Given the description of an element on the screen output the (x, y) to click on. 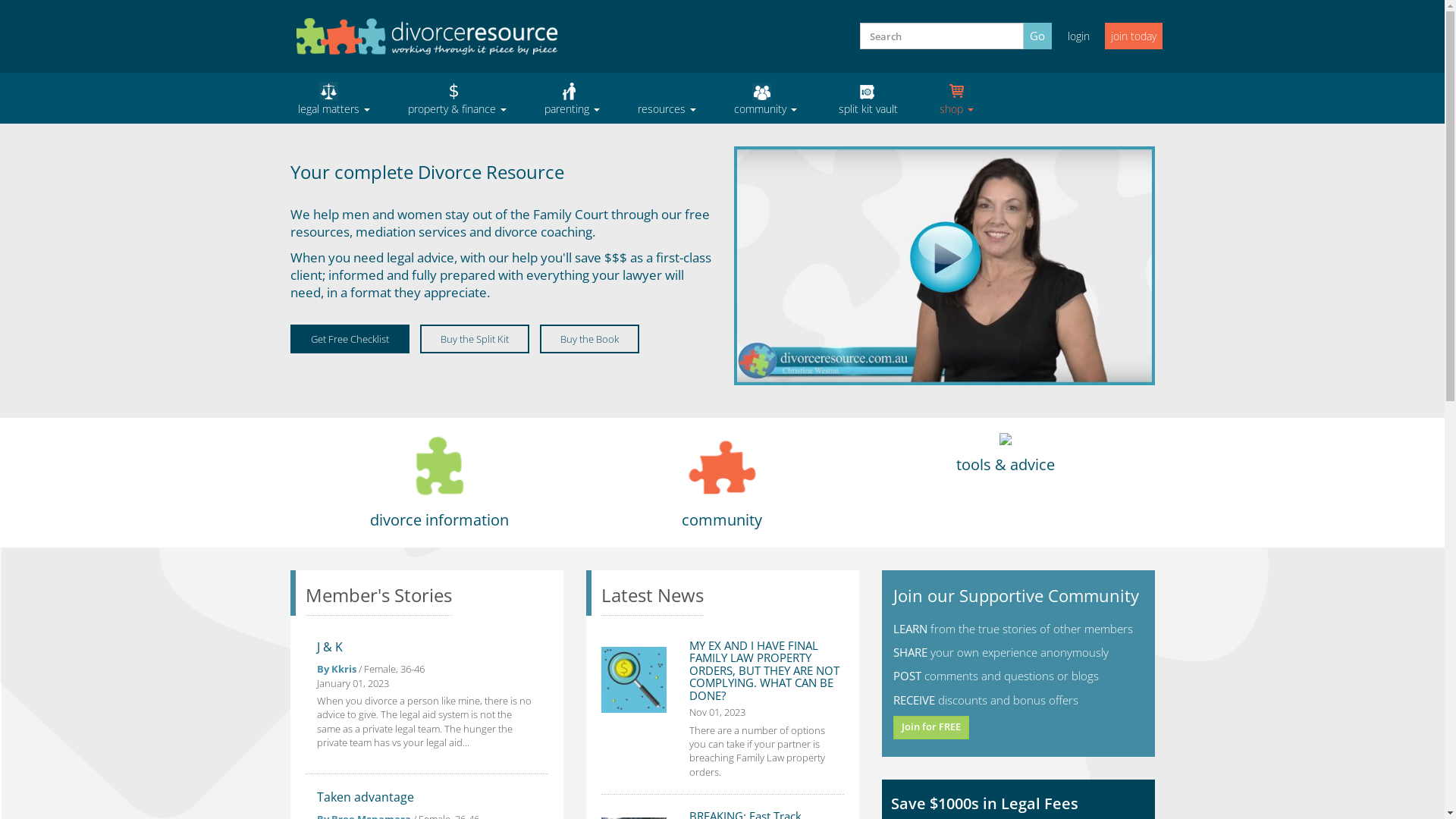
community Element type: text (721, 519)
Buy the Split Kit Element type: text (474, 339)
Search Element type: text (866, 54)
Divorce in Australia Element type: hover (944, 265)
Home Element type: hover (425, 36)
join today Element type: text (1132, 35)
split kit vault Element type: text (867, 97)
resources Element type: text (666, 97)
legal matters Element type: text (334, 97)
Buy the Book Element type: text (589, 339)
Skip to main content Element type: text (0, 0)
login Element type: text (1077, 35)
J & K Element type: text (329, 646)
parenting Element type: text (571, 97)
tools & advice Element type: text (1005, 464)
community Element type: text (764, 97)
divorce information Element type: text (439, 519)
Get Free Checklist Element type: text (348, 339)
shop Element type: text (956, 97)
property & finance Element type: text (456, 97)
Taken advantage Element type: text (365, 796)
Join for FREE Element type: text (931, 727)
